Given the description of an element on the screen output the (x, y) to click on. 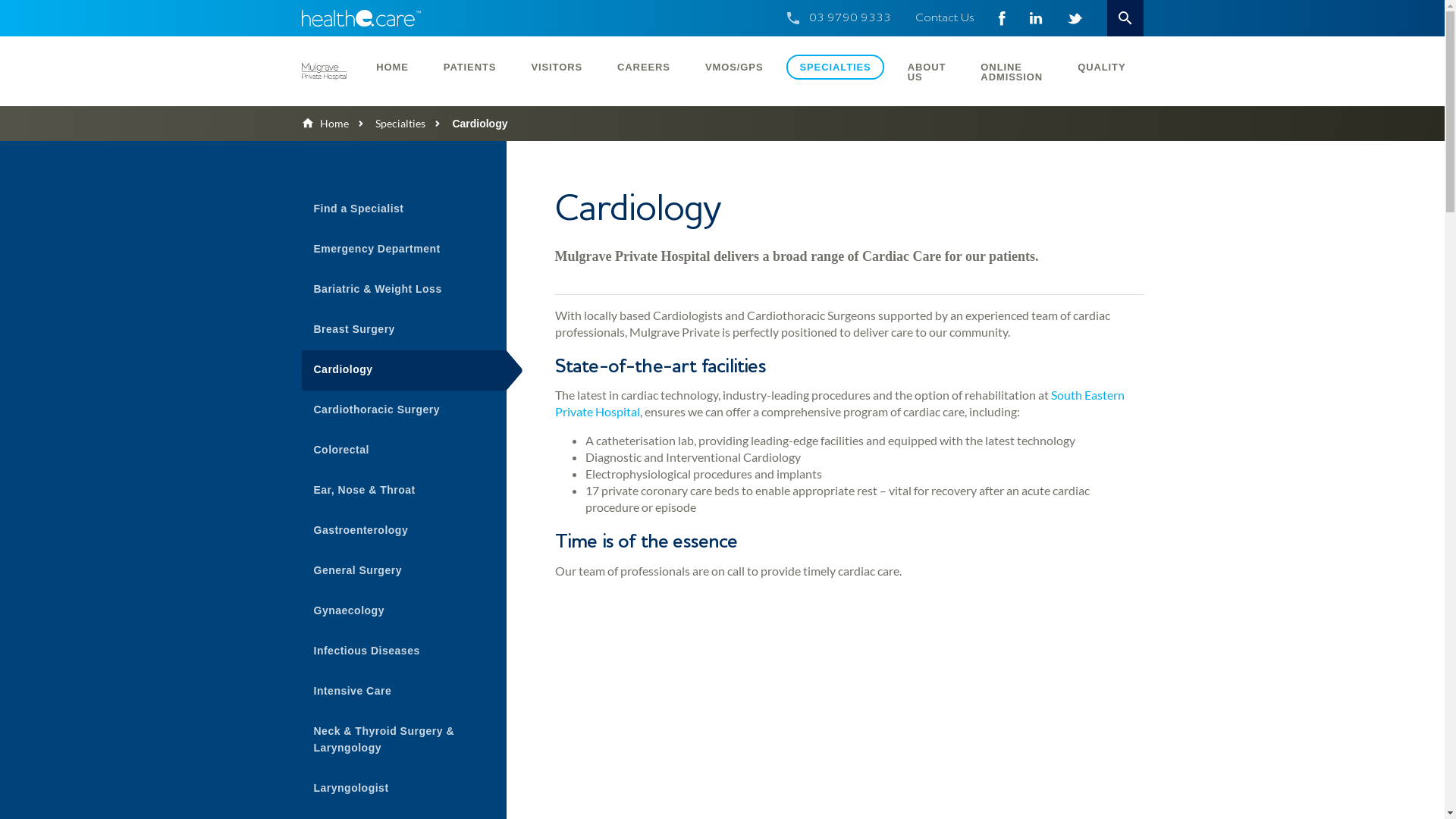
Ear, Nose & Throat Element type: text (403, 490)
QUALITY Element type: text (1101, 66)
Cardiology Element type: text (403, 370)
Bariatric & Weight Loss Element type: text (403, 289)
Home Element type: text (324, 122)
General Surgery Element type: text (403, 571)
SPECIALTIES
(CURRENT) Element type: text (834, 66)
Emergency Department Element type: text (403, 249)
PATIENTS Element type: text (470, 66)
Cardiothoracic Surgery Element type: text (403, 410)
Gastroenterology Element type: text (403, 531)
VISITORS Element type: text (556, 66)
Mulgrave Private Hospital Element type: text (324, 71)
Intensive Care Element type: text (403, 691)
ONLINE ADMISSION Element type: text (1011, 71)
HOME Element type: text (392, 66)
South Eastern Private Hospital Element type: text (839, 402)
Neck & Thyroid Surgery & Laryngology Element type: text (403, 740)
VMOS/GPS Element type: text (734, 66)
Gynaecology Element type: text (403, 611)
LinkedIn - 292626 Element type: text (1035, 18)
03 9790 9333 Element type: text (849, 18)
Twitter - HealtheCareAus Element type: text (1074, 17)
ABOUT US Element type: text (926, 71)
Breast Surgery Element type: text (403, 330)
Contact Us Element type: text (943, 18)
CAREERS Element type: text (643, 66)
Facebook page - Mulgrave-Private-Hospital-123318151056391 Element type: text (1000, 17)
Find a Specialist Element type: text (403, 209)
Specialties Element type: text (386, 122)
Infectious Diseases Element type: text (403, 651)
Colorectal Element type: text (403, 450)
Laryngologist Element type: text (403, 788)
